Given the description of an element on the screen output the (x, y) to click on. 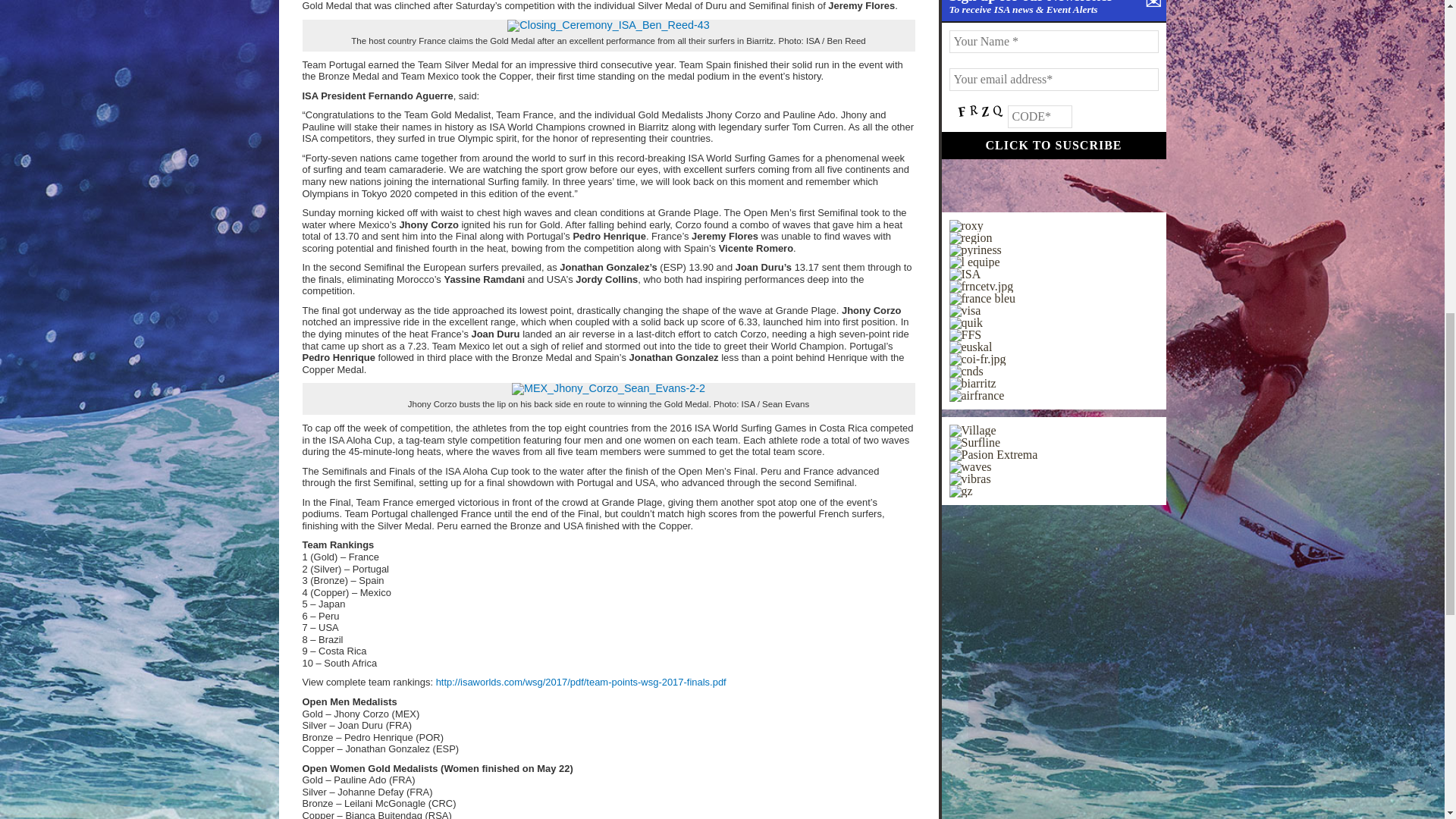
click to SUSCRIBE (1054, 144)
